Given the description of an element on the screen output the (x, y) to click on. 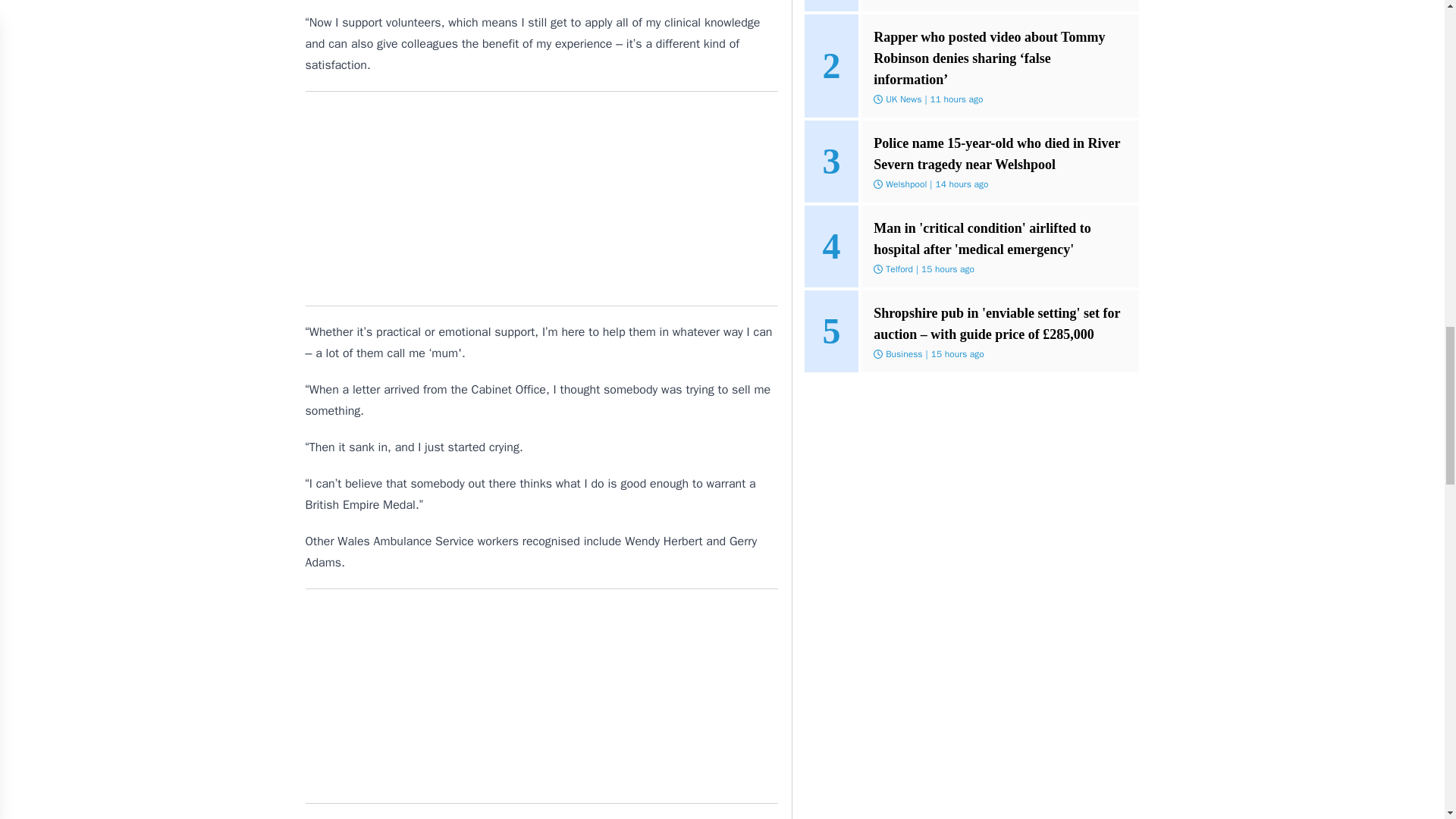
Telford (898, 268)
UK News (903, 99)
Welshpool (905, 184)
Business (903, 354)
